Given the description of an element on the screen output the (x, y) to click on. 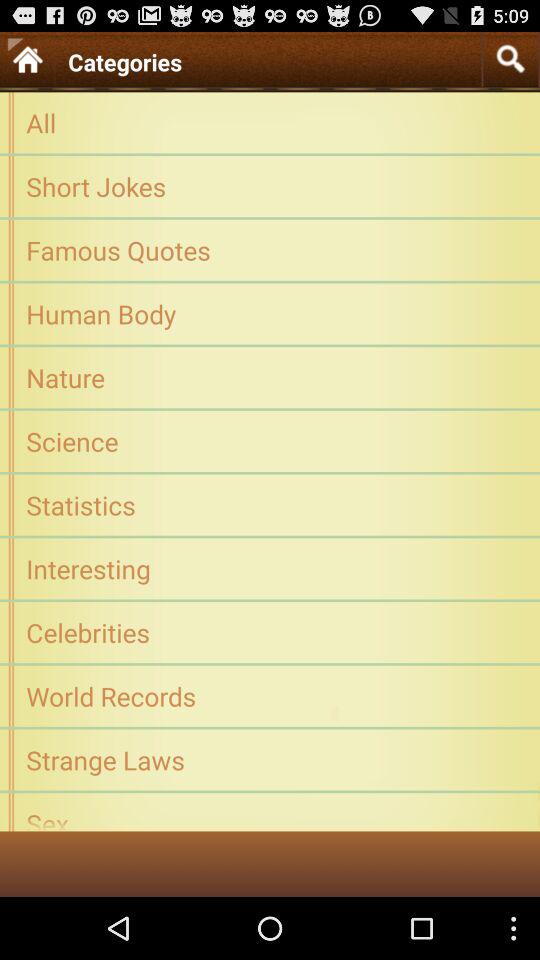
swipe to sex icon (270, 818)
